Given the description of an element on the screen output the (x, y) to click on. 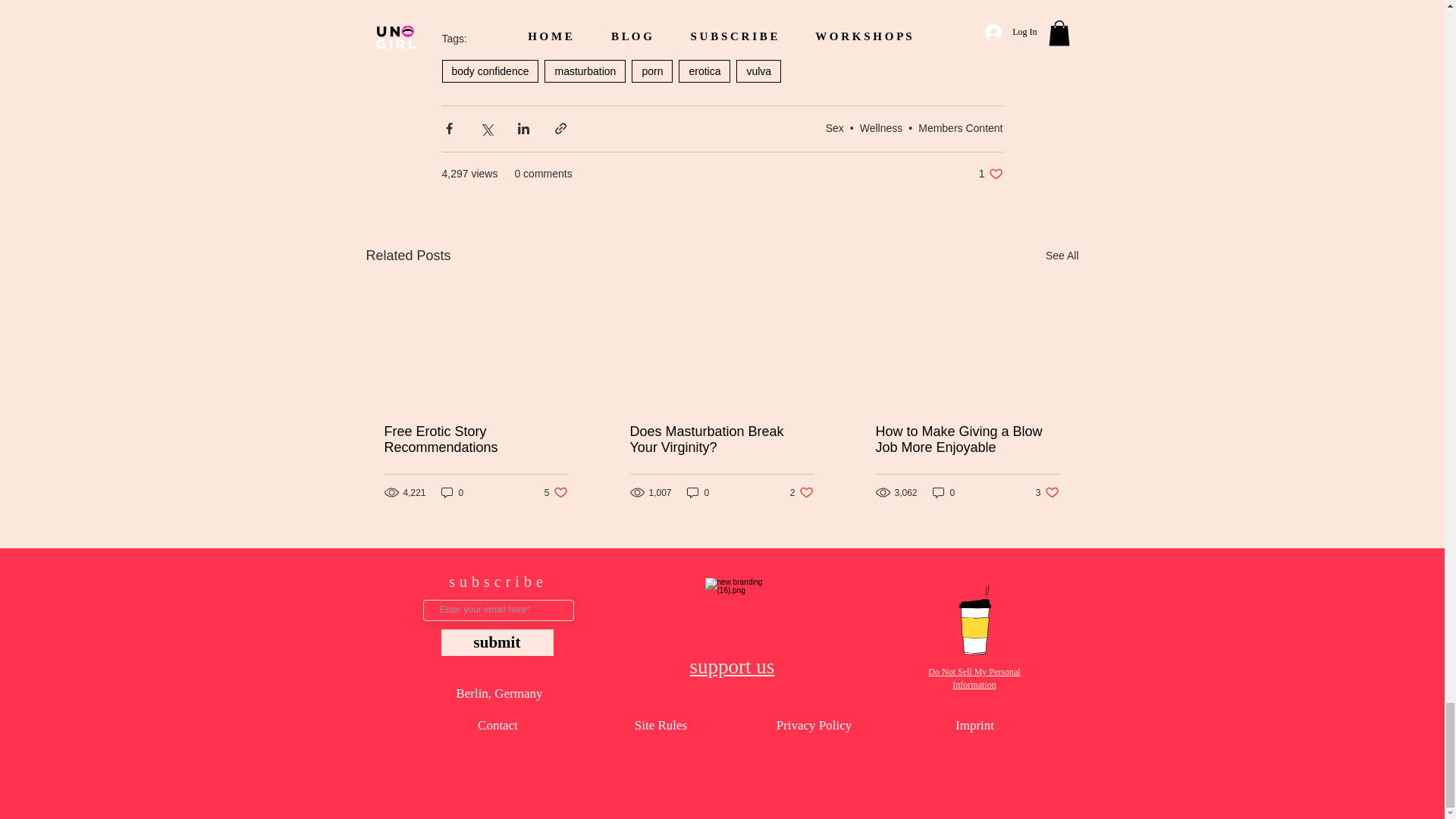
See All (1061, 255)
Wellness (881, 128)
body confidence (489, 70)
Free Erotic Story Recommendations (475, 439)
masturbation (585, 70)
Sex (834, 128)
erotica (990, 173)
Members Content (704, 70)
